Given the description of an element on the screen output the (x, y) to click on. 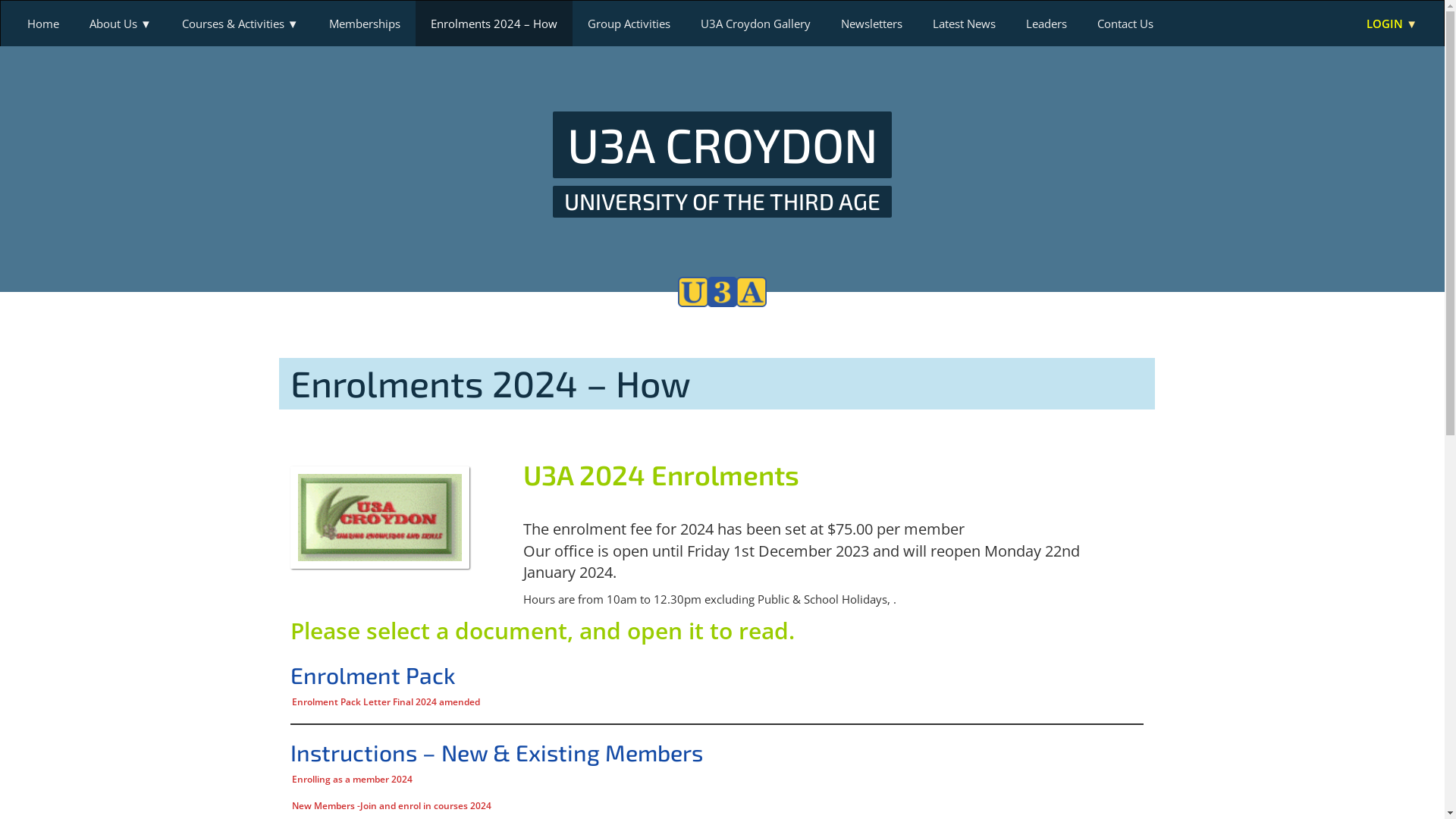
Courses & Activities Element type: text (239, 23)
Memberships Element type: text (364, 23)
Contact Us Element type: text (1125, 23)
Enrolling as a member 2024 Element type: text (351, 779)
New Members -Join and enrol in courses 2024 Element type: text (390, 805)
Newsletters Element type: text (871, 23)
Latest News Element type: text (963, 23)
Home Element type: text (43, 23)
LOGIN Element type: text (1391, 23)
About Us Element type: text (120, 23)
Leaders Element type: text (1046, 23)
U3A Croydon Gallery Element type: text (755, 23)
Group Activities Element type: text (628, 23)
Enrolment Pack Letter Final 2024 amended Element type: text (385, 701)
U3A CROYDON
UNIVERSITY OF THE THIRD AGE Element type: text (722, 163)
